Given the description of an element on the screen output the (x, y) to click on. 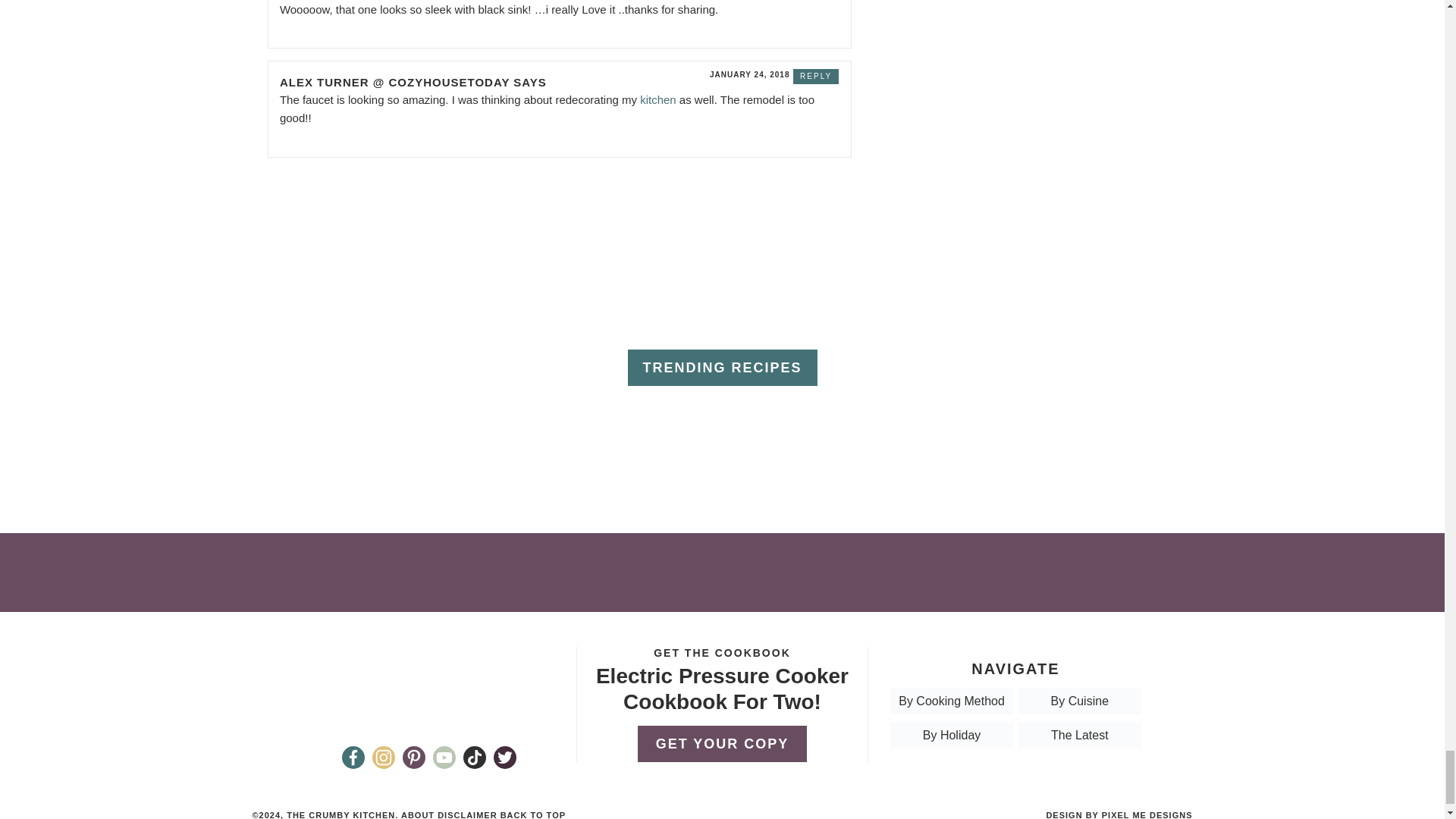
kitchen (658, 99)
